Given the description of an element on the screen output the (x, y) to click on. 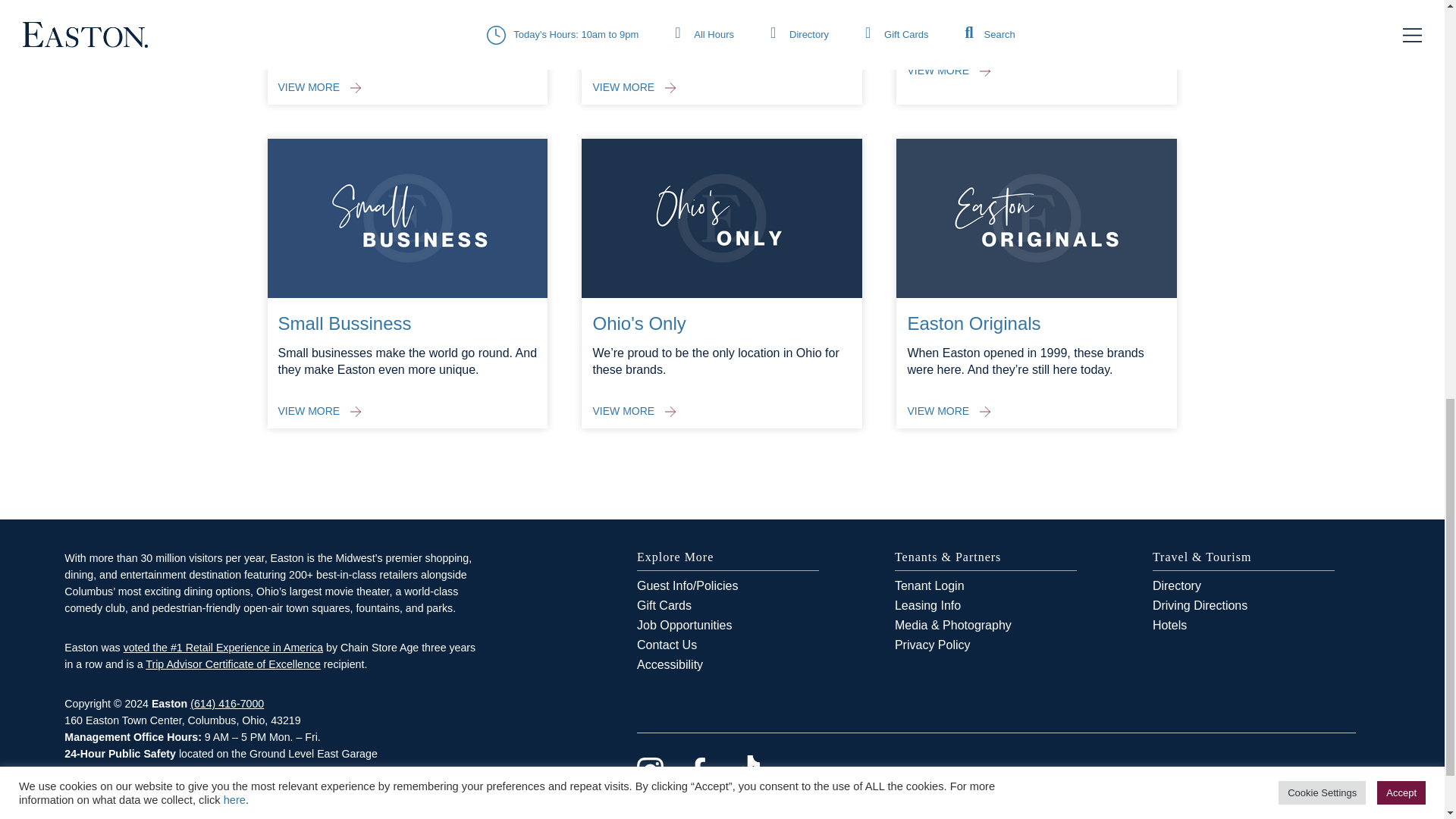
VIEW MORE (633, 87)
VIEW MORE (319, 410)
Small Bussiness (344, 322)
VIEW MORE (319, 87)
Ohio's Only (638, 322)
VIEW MORE (633, 410)
VIEW MORE (948, 70)
